Given the description of an element on the screen output the (x, y) to click on. 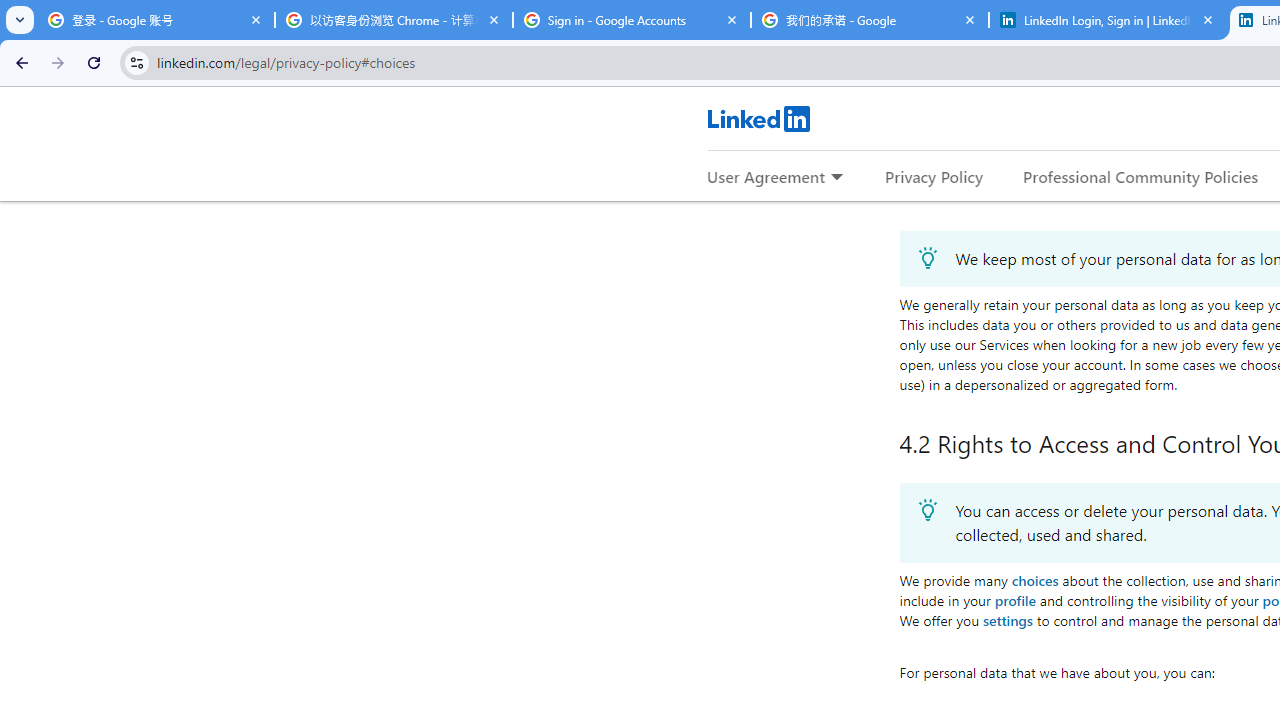
User Agreement (765, 176)
settings (1006, 619)
LinkedIn Logo (758, 118)
